Given the description of an element on the screen output the (x, y) to click on. 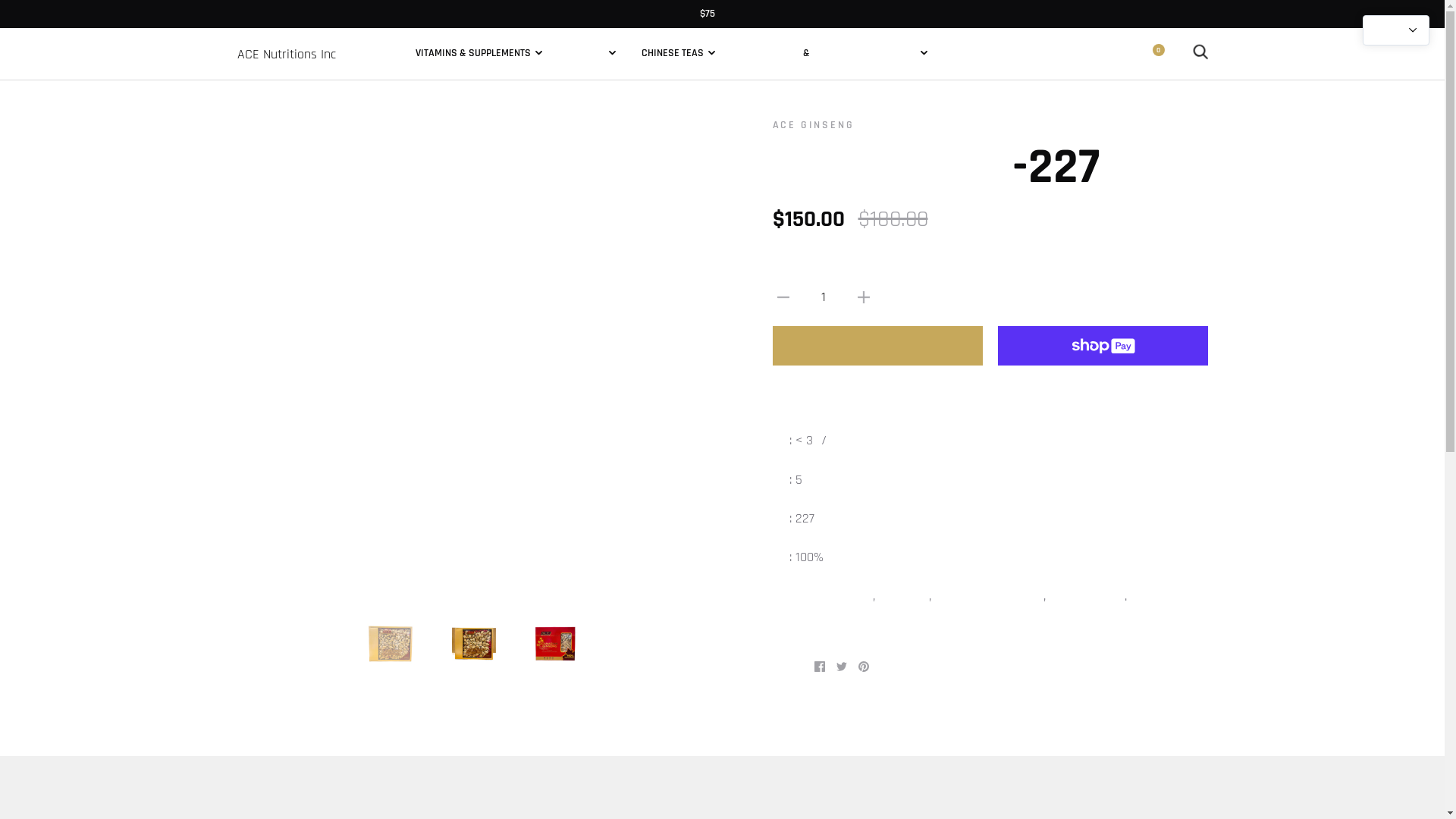
MMK Element type: text (303, 254)
LAK Element type: text (303, 127)
NIO Element type: text (303, 423)
LKR Element type: text (303, 169)
KRW Element type: text (303, 63)
KZT Element type: text (303, 106)
PEN Element type: text (303, 486)
MOP Element type: text (303, 296)
NZD Element type: text (303, 465)
MVR Element type: text (303, 339)
SHP Element type: text (303, 783)
ACE GINSENG Element type: text (812, 124)
SGD Element type: text (303, 762)
MDL Element type: text (303, 211)
CHINESE TEAS Element type: text (678, 52)
PHP Element type: text (303, 529)
PYG Element type: text (303, 592)
KMF Element type: text (303, 42)
PLN Element type: text (303, 571)
RSD Element type: text (303, 656)
SLL Element type: text (303, 803)
VITAMINS & SUPPLEMENTS Element type: text (478, 52)
SAR Element type: text (303, 698)
RON Element type: text (303, 634)
RWF Element type: text (303, 677)
KYD Element type: text (303, 85)
MNT Element type: text (303, 275)
PKR Element type: text (303, 550)
QAR Element type: text (303, 613)
PGK Element type: text (303, 508)
LBP Element type: text (303, 148)
MWK Element type: text (303, 360)
KHR Element type: text (303, 21)
MAD Element type: text (303, 190)
NPR Element type: text (303, 444)
SEK Element type: text (303, 741)
SBD Element type: text (303, 719)
ACE Nutritions Inc Element type: text (285, 53)
MYR Element type: text (303, 380)
MKD Element type: text (303, 232)
NGN Element type: text (303, 402)
MUR Element type: text (303, 317)
